Given the description of an element on the screen output the (x, y) to click on. 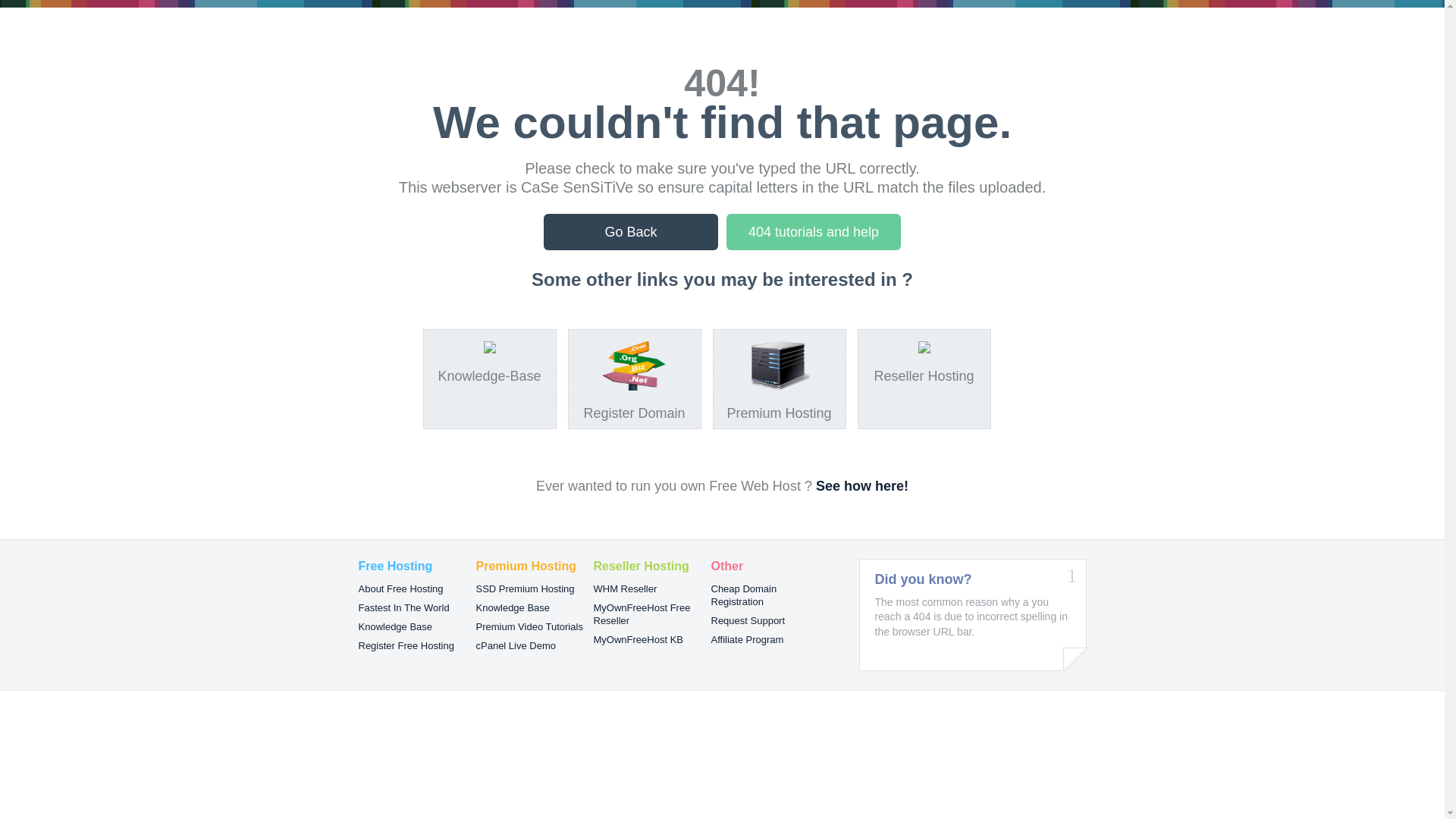
Cheap Domain Registration Element type: text (744, 595)
Premium Video Tutorials Element type: text (529, 626)
404 tutorials and help Element type: text (813, 231)
cPanel Live Demo Element type: text (516, 645)
SSD Premium Hosting Element type: text (525, 588)
WHM Reseller Element type: text (624, 588)
Knowledge Base Element type: text (513, 607)
Affiliate Program Element type: text (747, 639)
MyOwnFreeHost KB Element type: text (637, 639)
Register Free Hosting Element type: text (405, 645)
MyOwnFreeHost Free Reseller Element type: text (641, 614)
Fastest In The World Element type: text (402, 607)
See how here! Element type: text (861, 485)
Knowledge Base Element type: text (394, 626)
Request Support Element type: text (748, 620)
Go Back Element type: text (630, 231)
About Free Hosting Element type: text (399, 588)
